Given the description of an element on the screen output the (x, y) to click on. 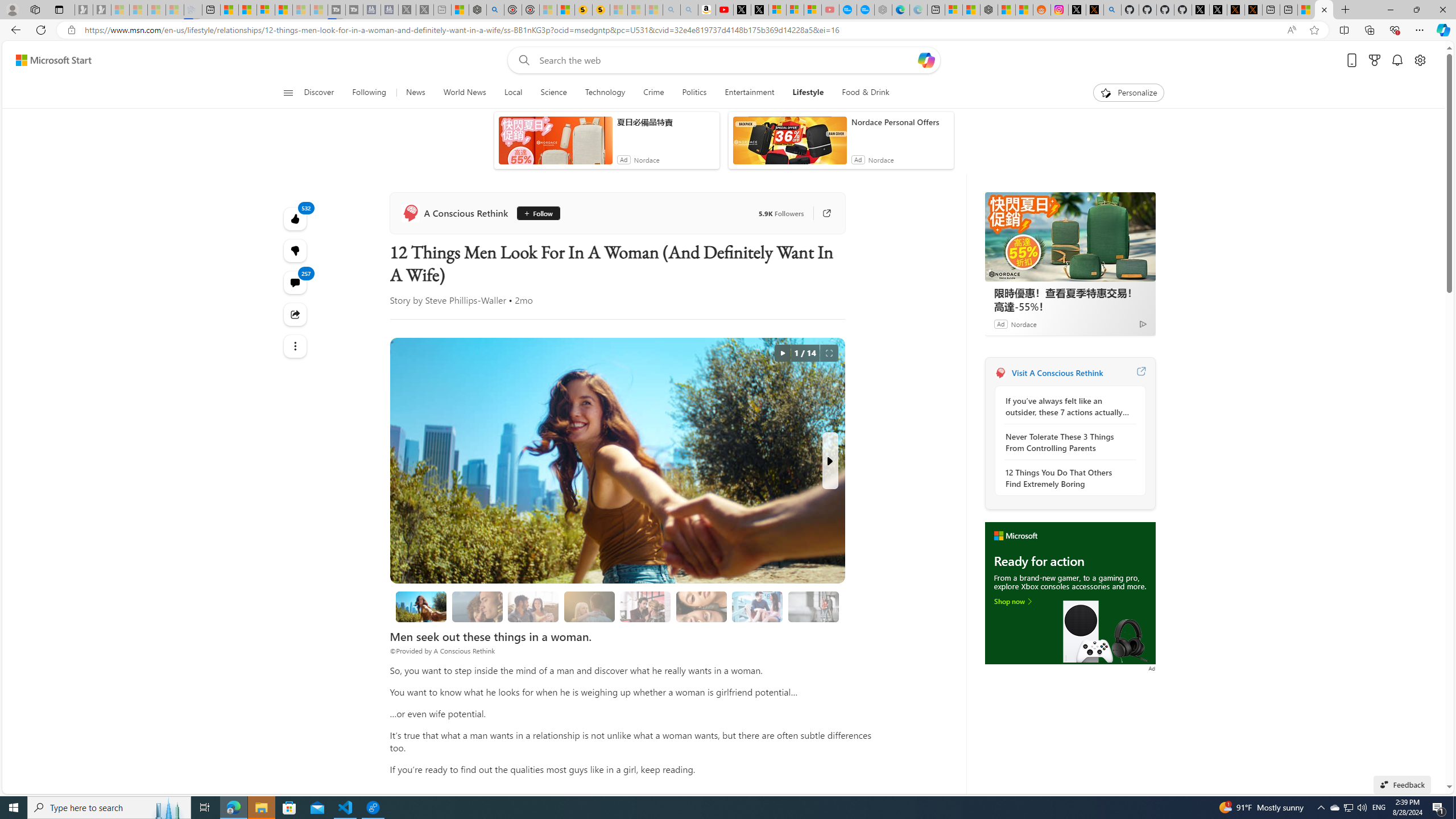
Never Tolerate These 3 Things From Controlling Parents (1066, 441)
Class: progress (813, 604)
Local (513, 92)
2. She is accepting. (533, 606)
A Conscious Rethink (456, 212)
Science (553, 92)
